Given the description of an element on the screen output the (x, y) to click on. 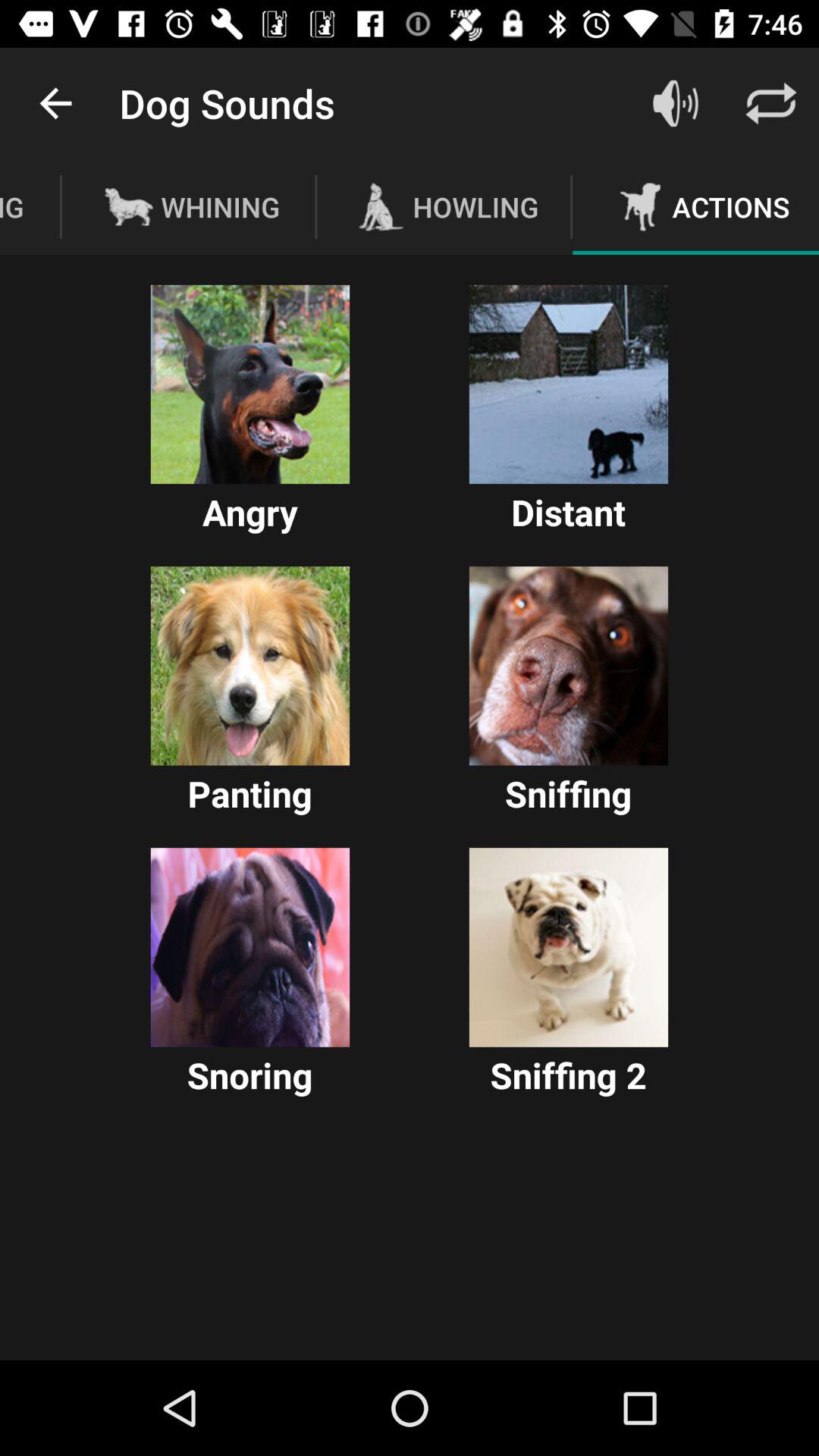
tap icon above the barking (55, 103)
